Given the description of an element on the screen output the (x, y) to click on. 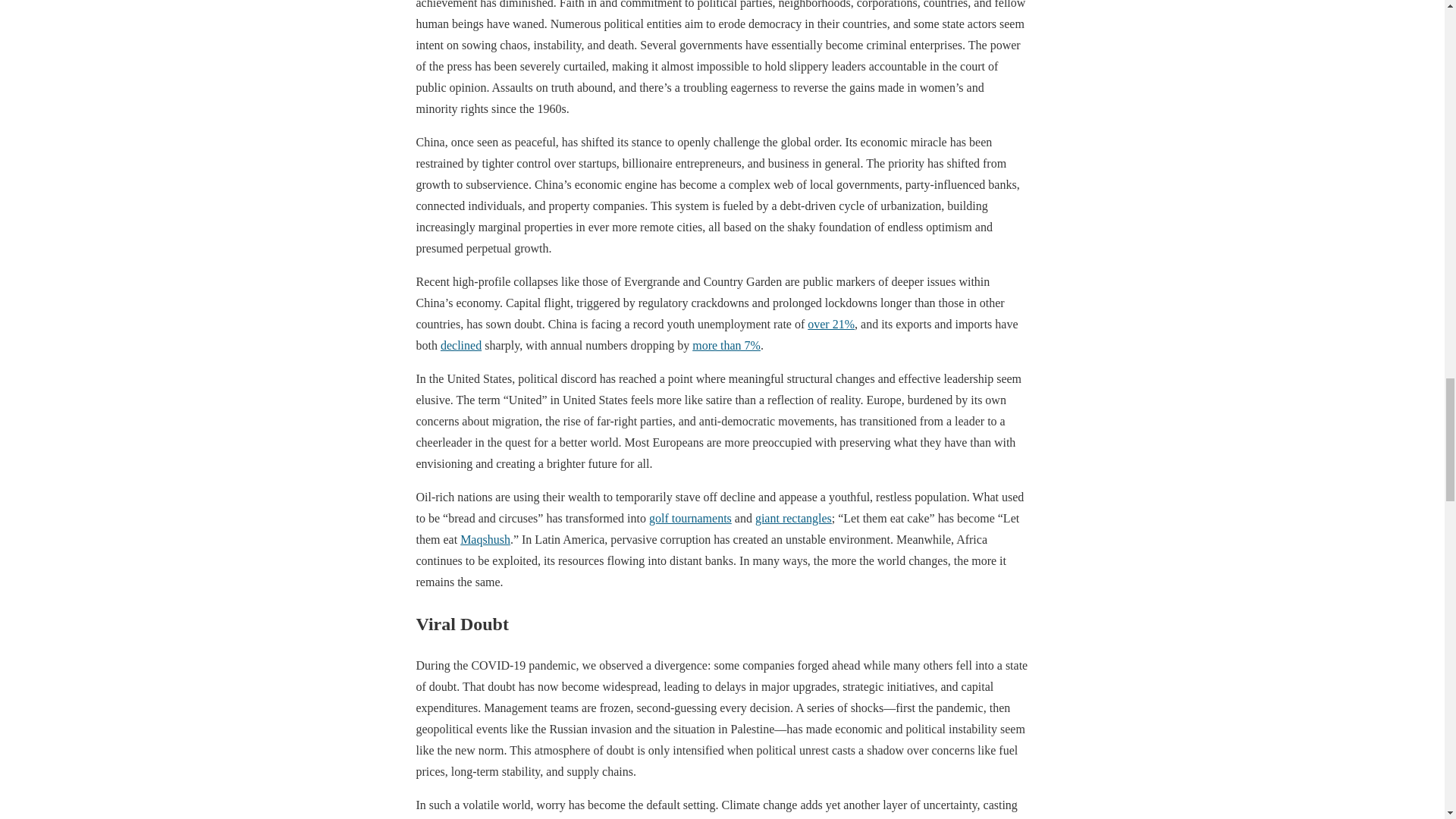
giant rectangles (793, 517)
golf tournaments (690, 517)
declined (461, 345)
Maqshush (485, 539)
